Given the description of an element on the screen output the (x, y) to click on. 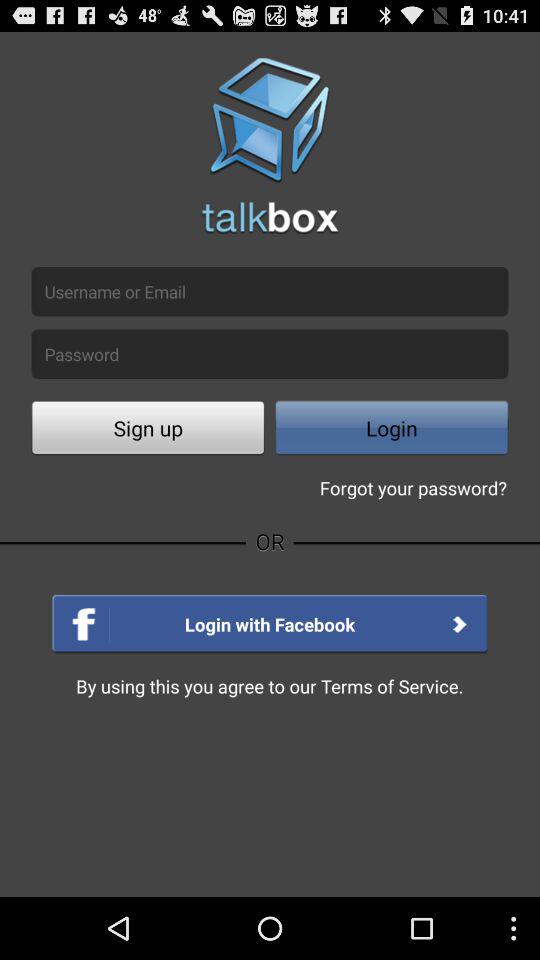
jump until sign up button (148, 430)
